Given the description of an element on the screen output the (x, y) to click on. 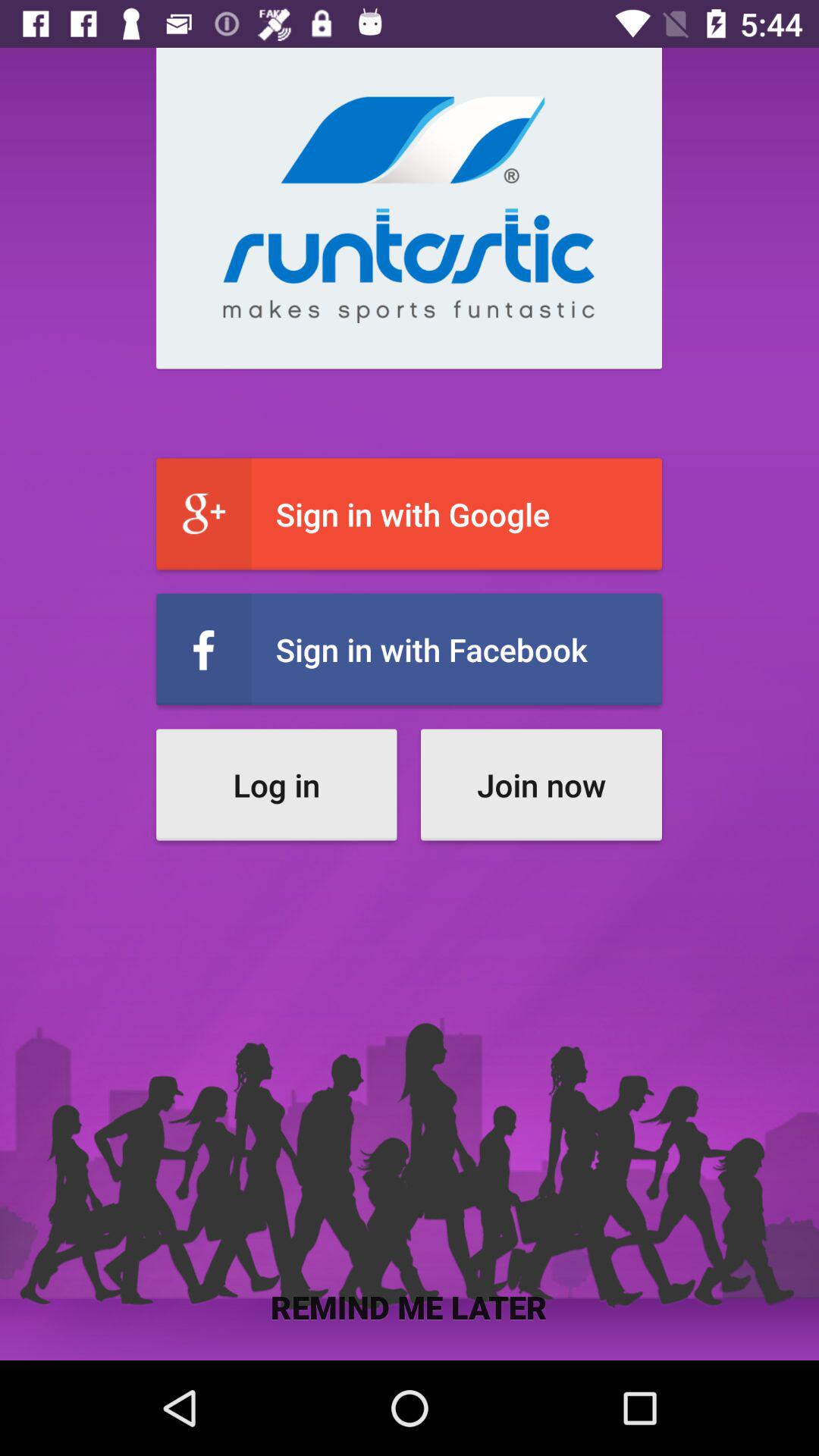
select icon next to the join now button (276, 784)
